Given the description of an element on the screen output the (x, y) to click on. 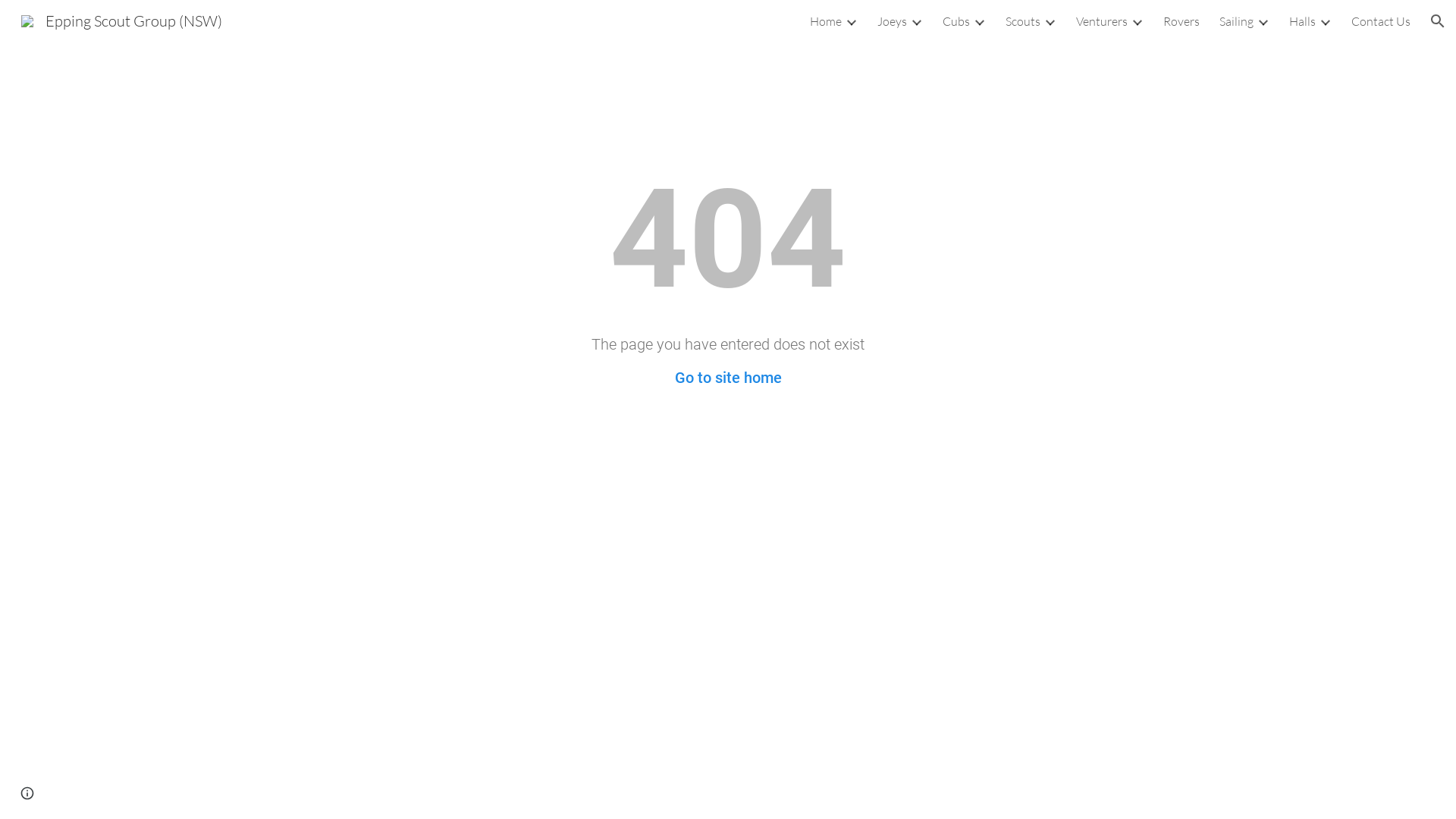
Expand/Collapse Element type: hover (915, 20)
Rovers Element type: text (1181, 20)
Expand/Collapse Element type: hover (1262, 20)
Expand/Collapse Element type: hover (1049, 20)
Epping Scout Group (NSW) Element type: text (121, 18)
Expand/Collapse Element type: hover (978, 20)
Halls Element type: text (1302, 20)
Expand/Collapse Element type: hover (1324, 20)
Scouts Element type: text (1022, 20)
Cubs Element type: text (955, 20)
Go to site home Element type: text (727, 377)
Joeys Element type: text (891, 20)
Expand/Collapse Element type: hover (1136, 20)
Home Element type: text (825, 20)
Sailing Element type: text (1236, 20)
Venturers Element type: text (1101, 20)
Expand/Collapse Element type: hover (850, 20)
Contact Us Element type: text (1380, 20)
